Given the description of an element on the screen output the (x, y) to click on. 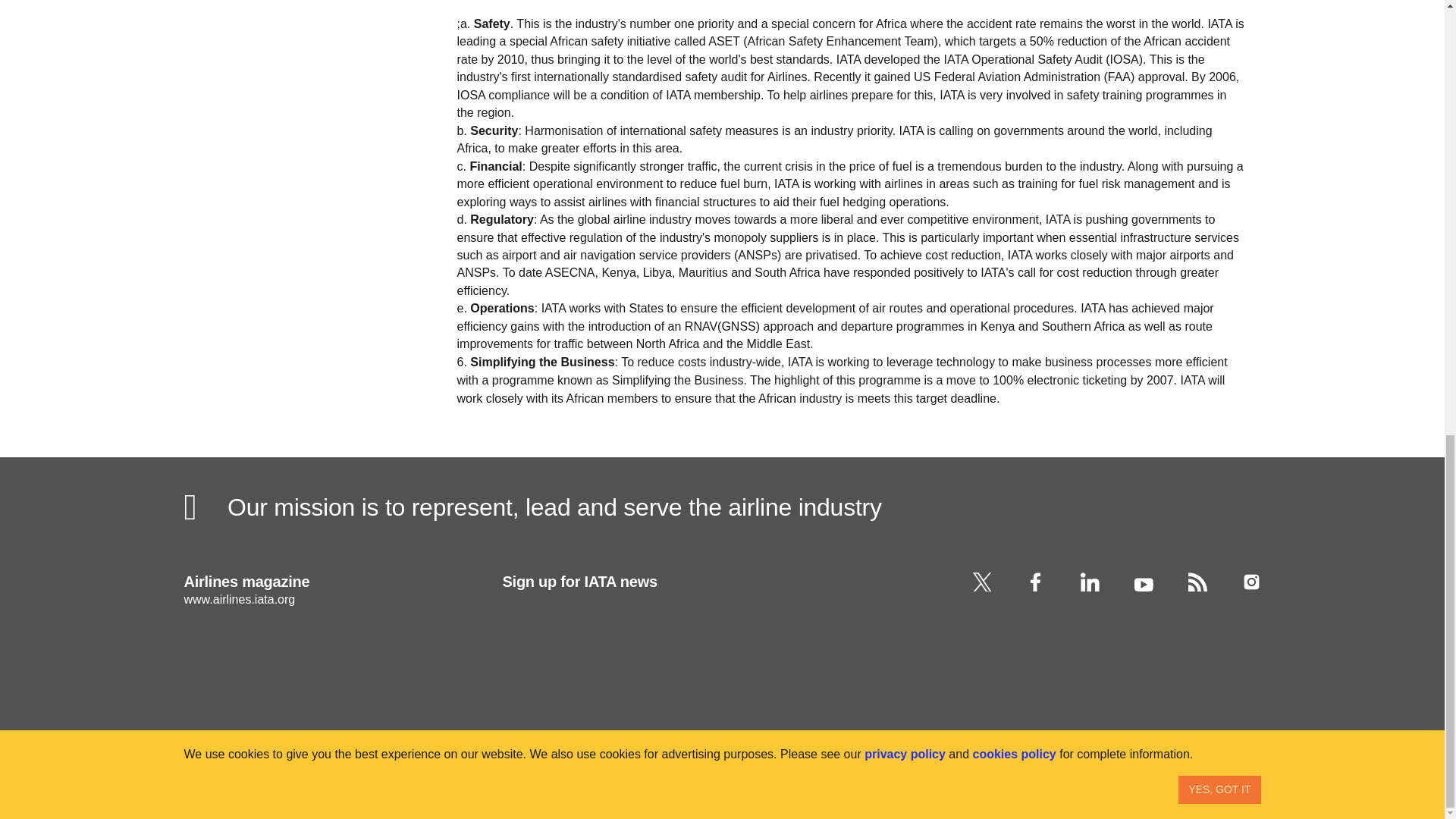
IATA on Youtube (1143, 581)
Sign up for IATA news (653, 634)
IATA on Facebook (1035, 581)
IATA on Instagram (1250, 581)
IATA RSS Feed (1197, 581)
IATA on Linkedin (1089, 581)
IATA on Twitter (981, 581)
